Given the description of an element on the screen output the (x, y) to click on. 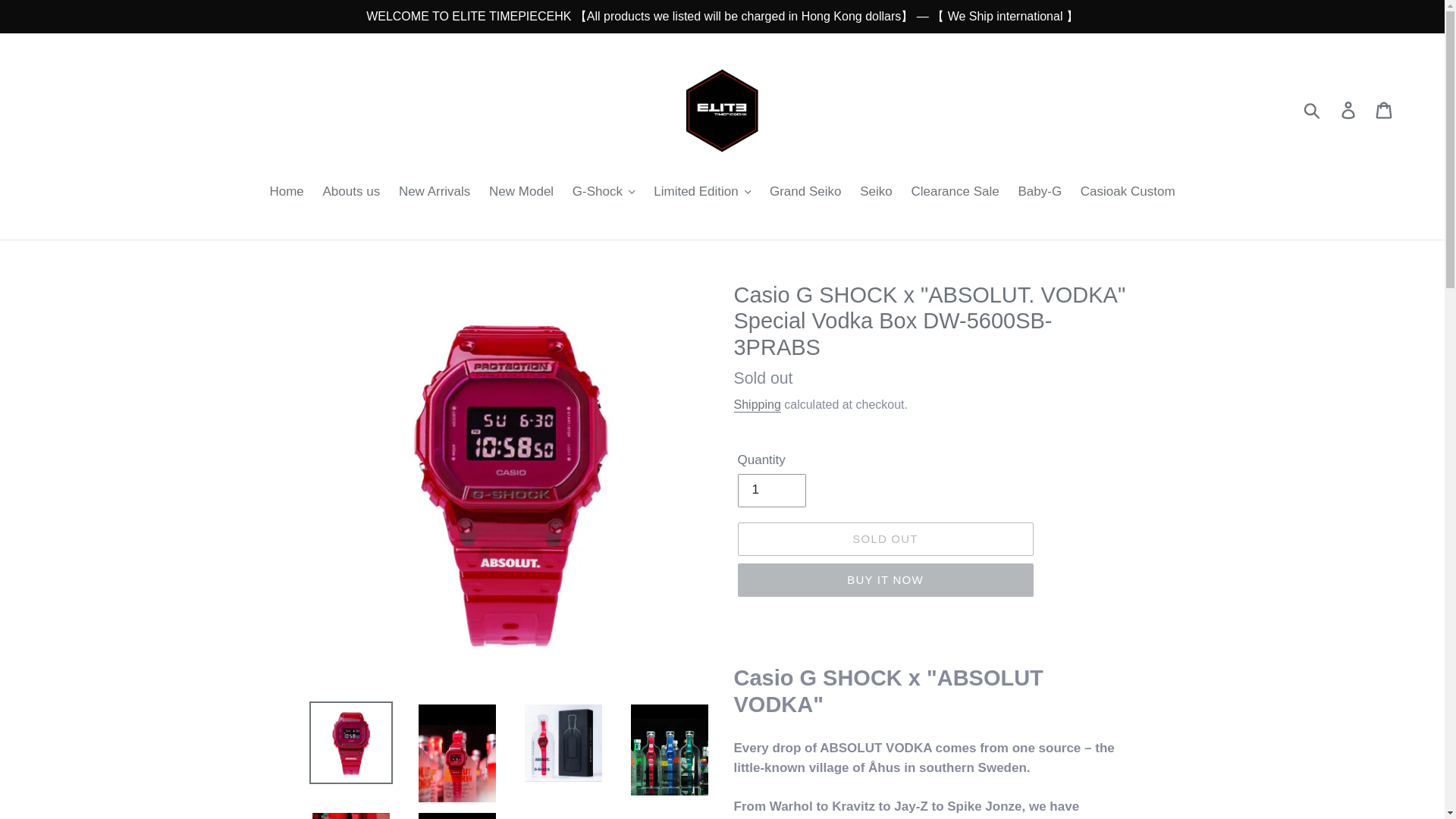
1 (770, 490)
Cart (1385, 109)
Submit (1313, 109)
Log in (1349, 109)
